Given the description of an element on the screen output the (x, y) to click on. 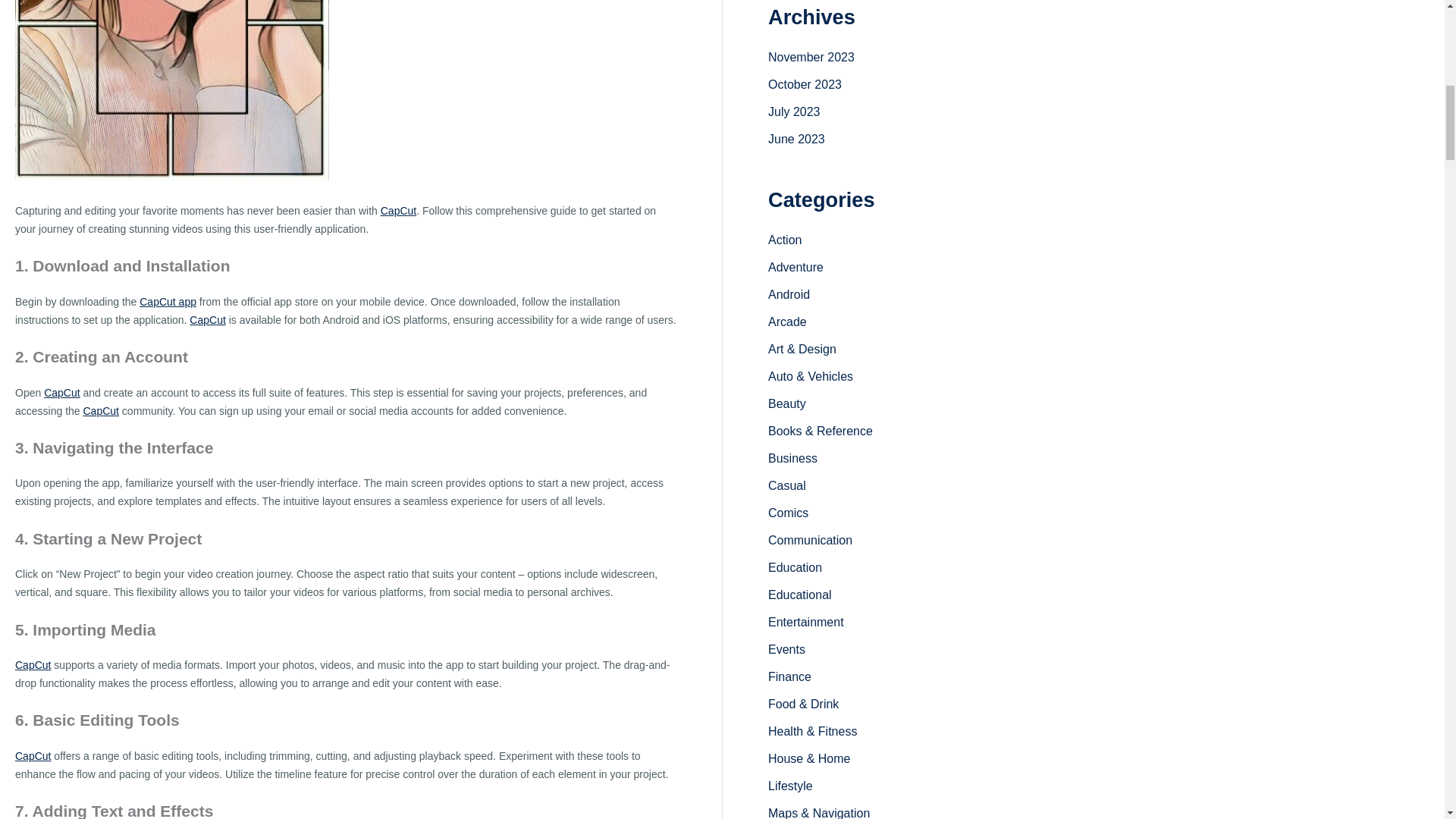
CapCut (207, 319)
CapCut (398, 210)
CapCut app (167, 301)
CapCut (32, 664)
CapCut (61, 392)
CapCut (207, 319)
CapCut (32, 756)
CapCut app (167, 301)
CapCut (61, 392)
CapCut (32, 664)
CapCut (32, 756)
CapCut (398, 210)
CapCut (100, 410)
CapCut (100, 410)
